Given the description of an element on the screen output the (x, y) to click on. 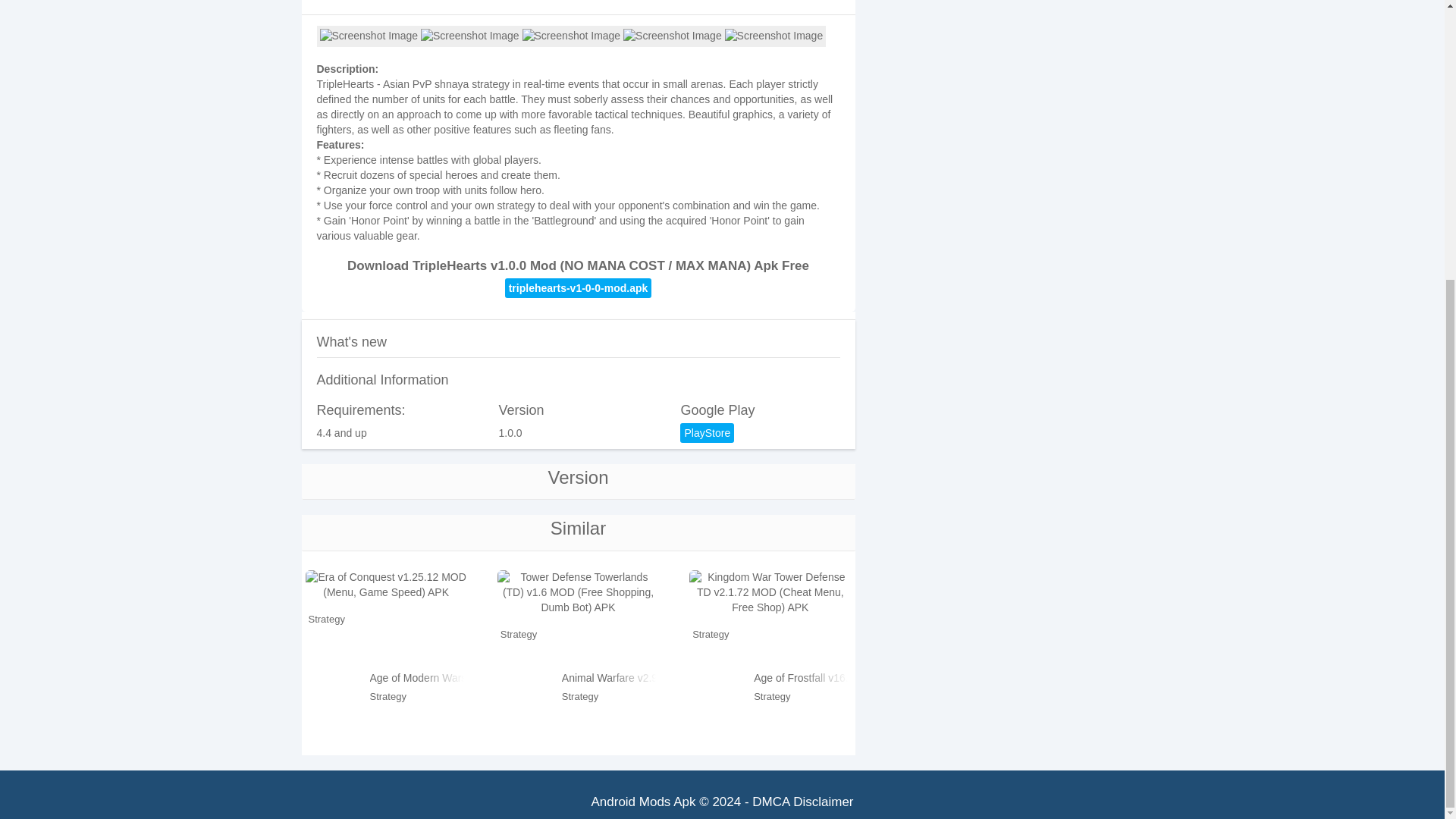
Advertisement (578, 4)
